Given the description of an element on the screen output the (x, y) to click on. 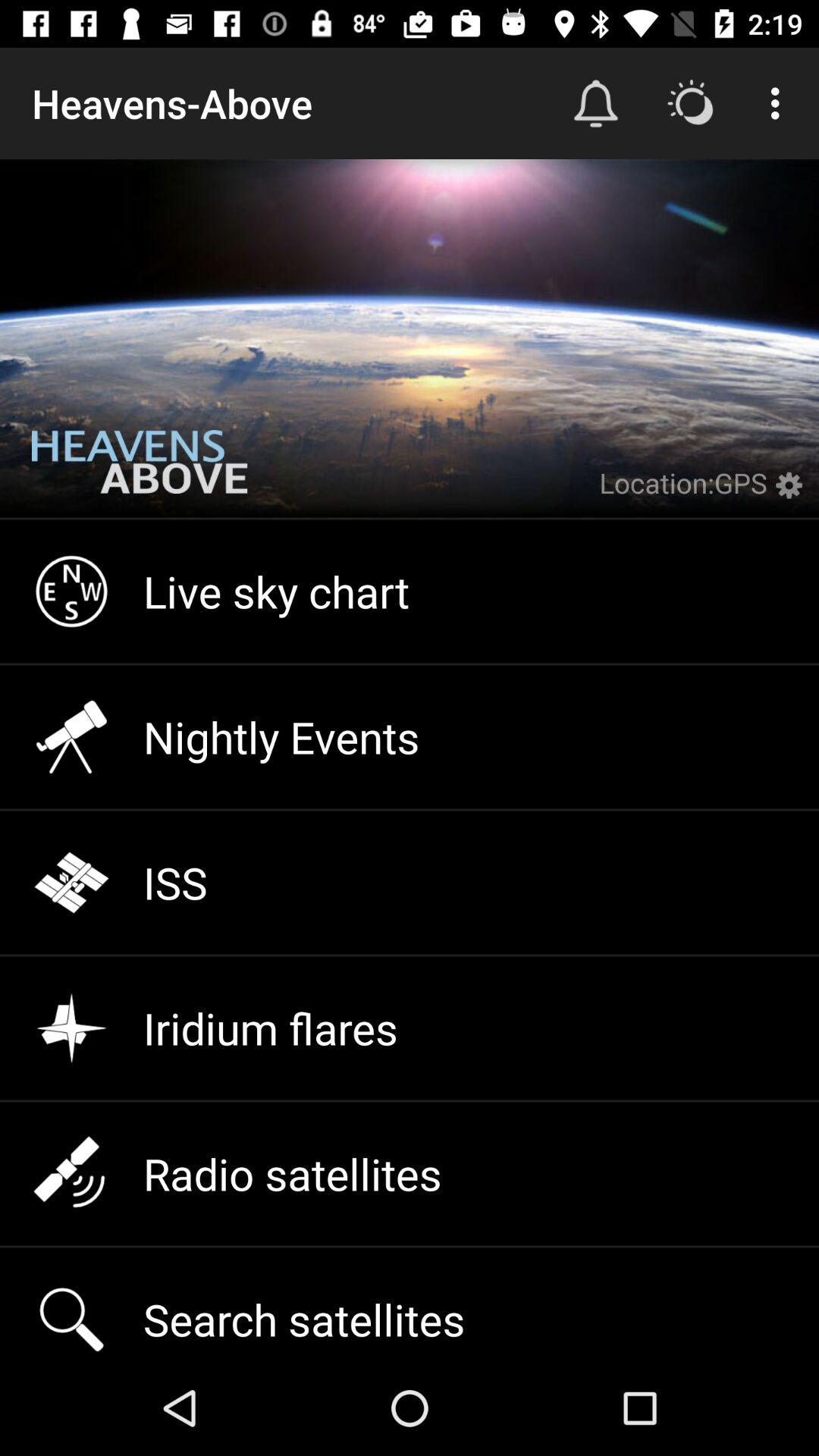
swipe until iss icon (409, 882)
